Given the description of an element on the screen output the (x, y) to click on. 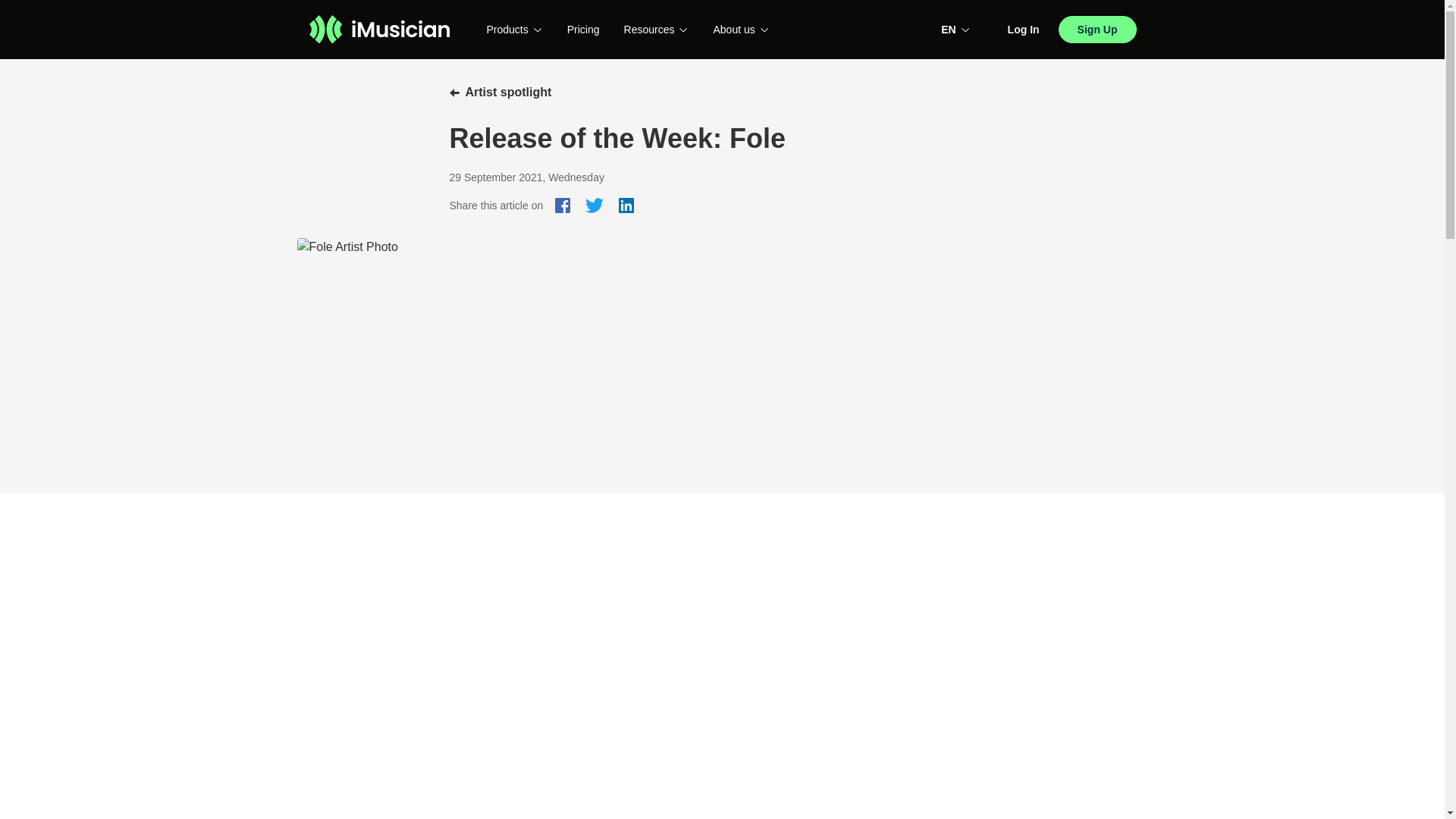
Products (514, 29)
EN (954, 29)
Sign Up (1097, 29)
About us (740, 29)
Resources (656, 29)
Pricing (583, 29)
Log In (1023, 29)
Skip to main content (11, 11)
